Given the description of an element on the screen output the (x, y) to click on. 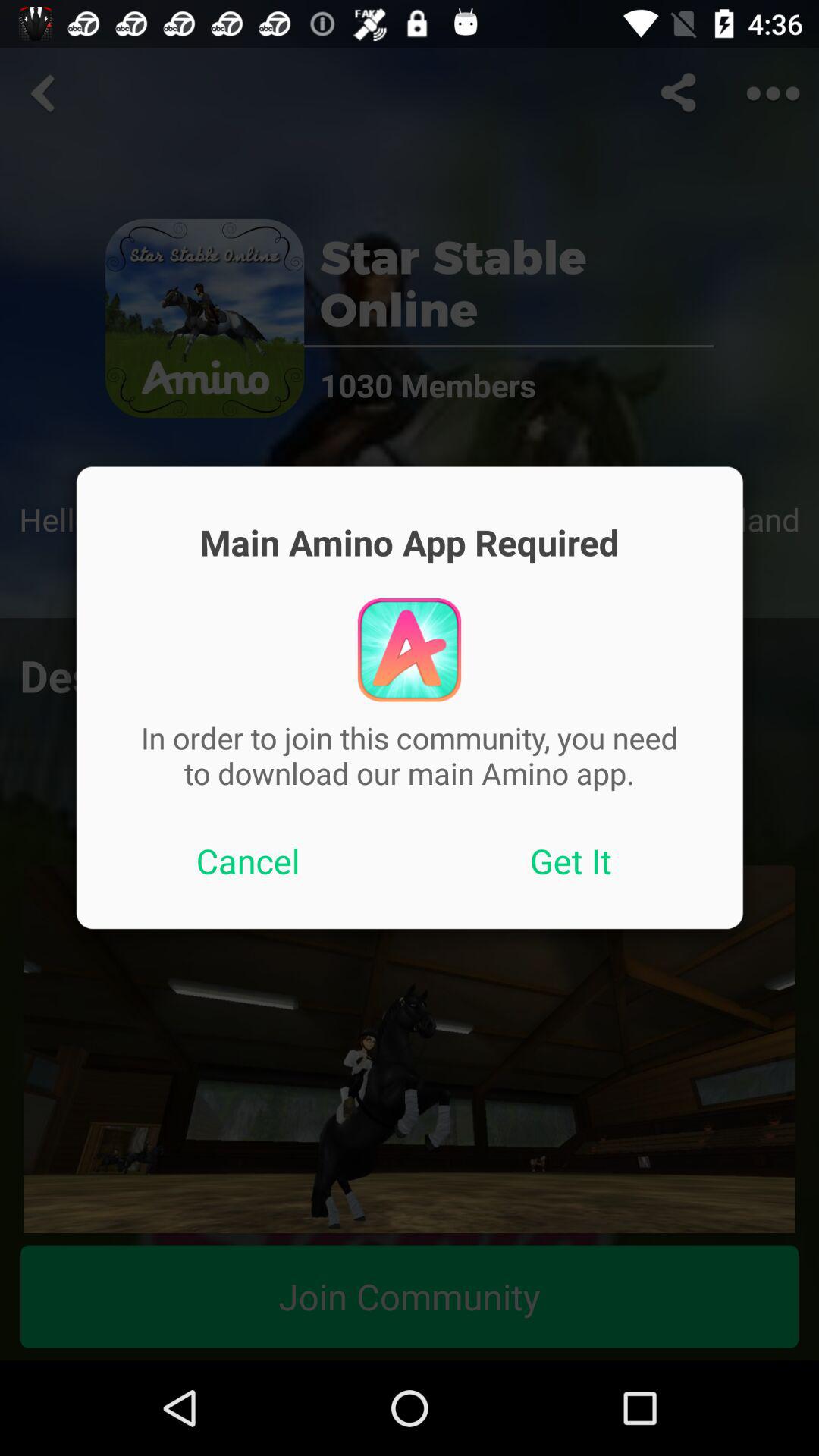
click the button next to the cancel button (570, 860)
